Given the description of an element on the screen output the (x, y) to click on. 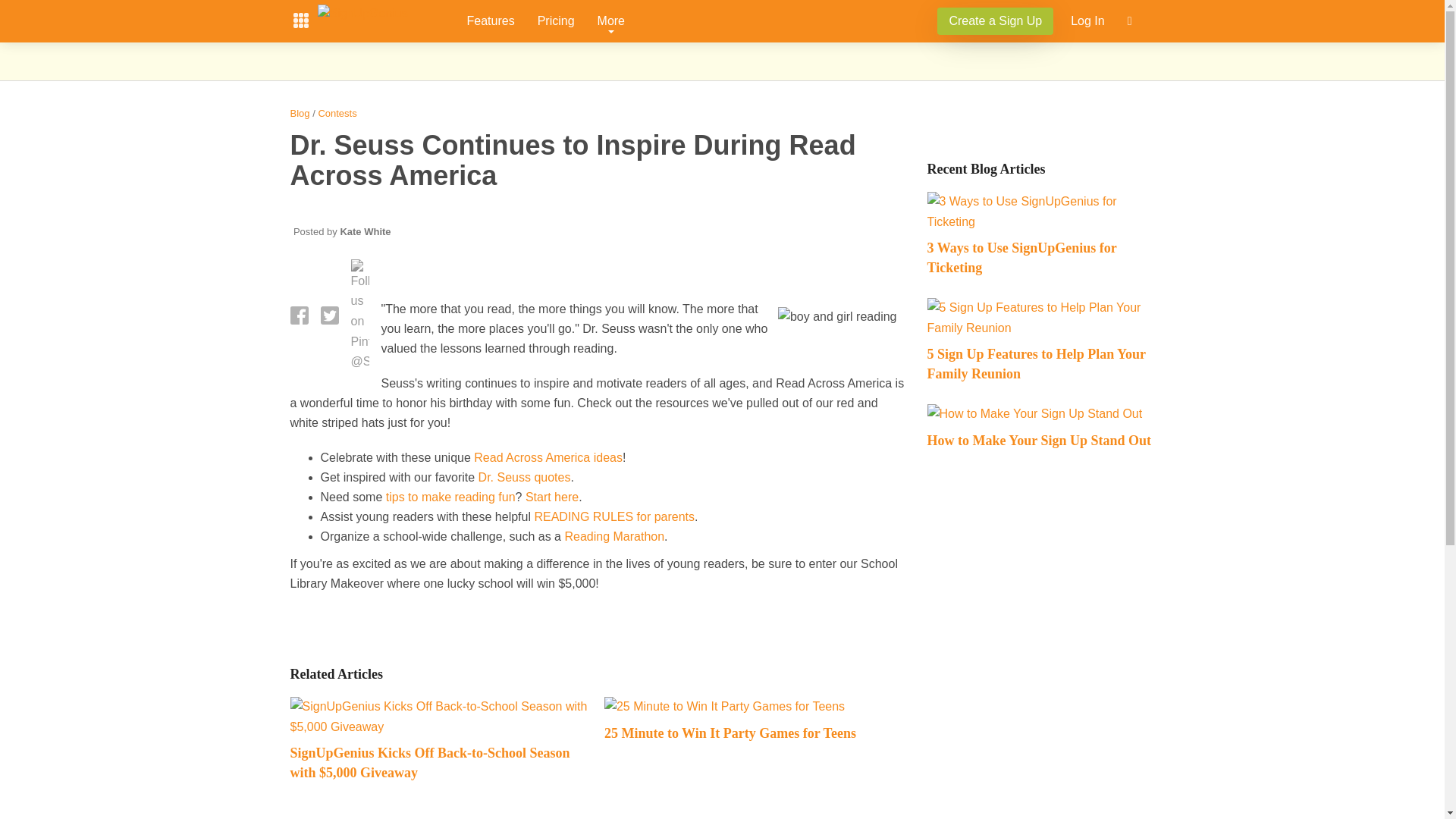
Create a Sign Up (994, 20)
Pricing (555, 21)
Create a Sign Up (994, 21)
Blog (298, 112)
Contests (336, 112)
Log In (1087, 21)
Features (489, 21)
More (611, 21)
